Given the description of an element on the screen output the (x, y) to click on. 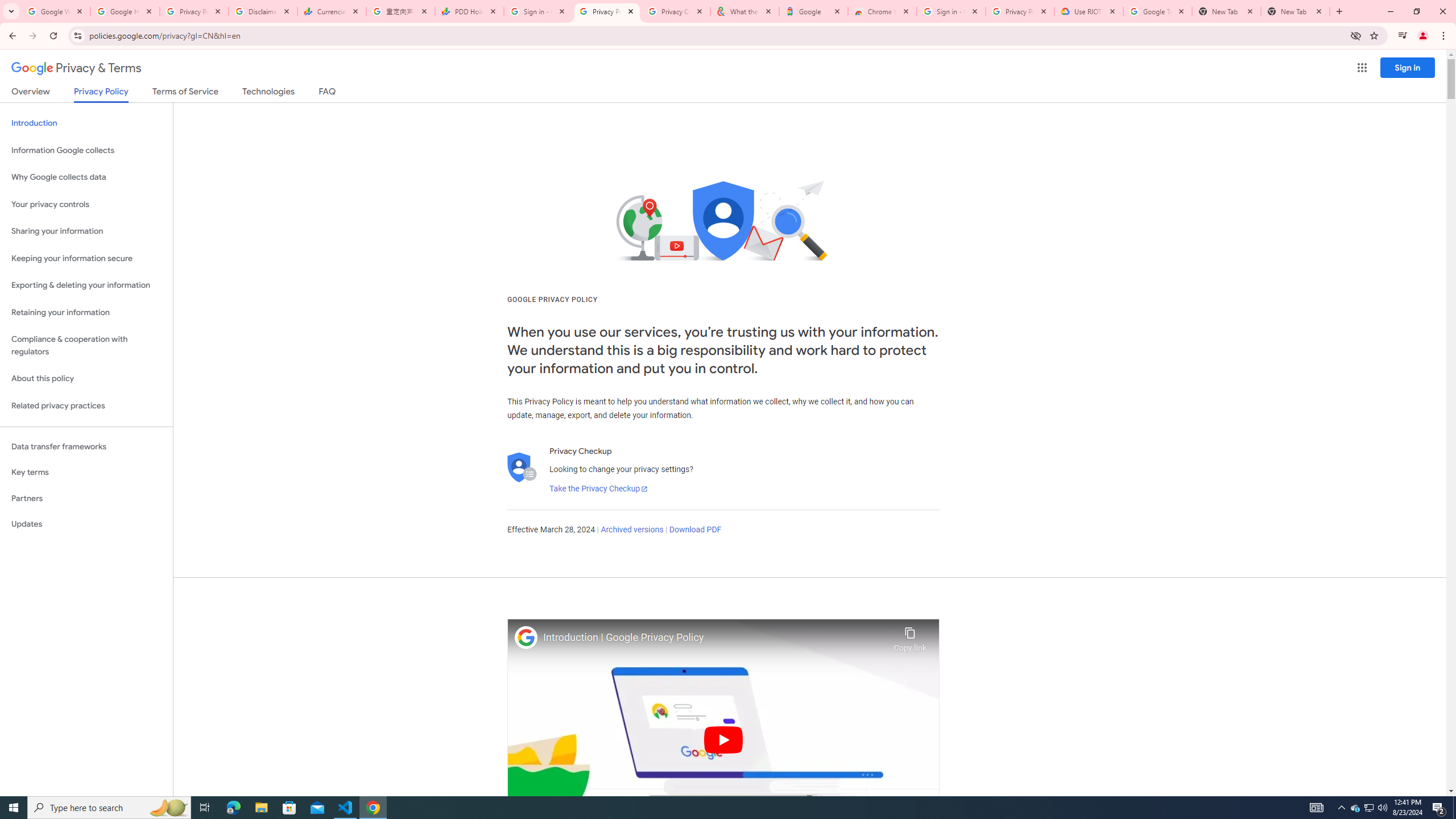
Google Workspace Admin Community (56, 11)
Take the Privacy Checkup (597, 488)
Google (813, 11)
